Given the description of an element on the screen output the (x, y) to click on. 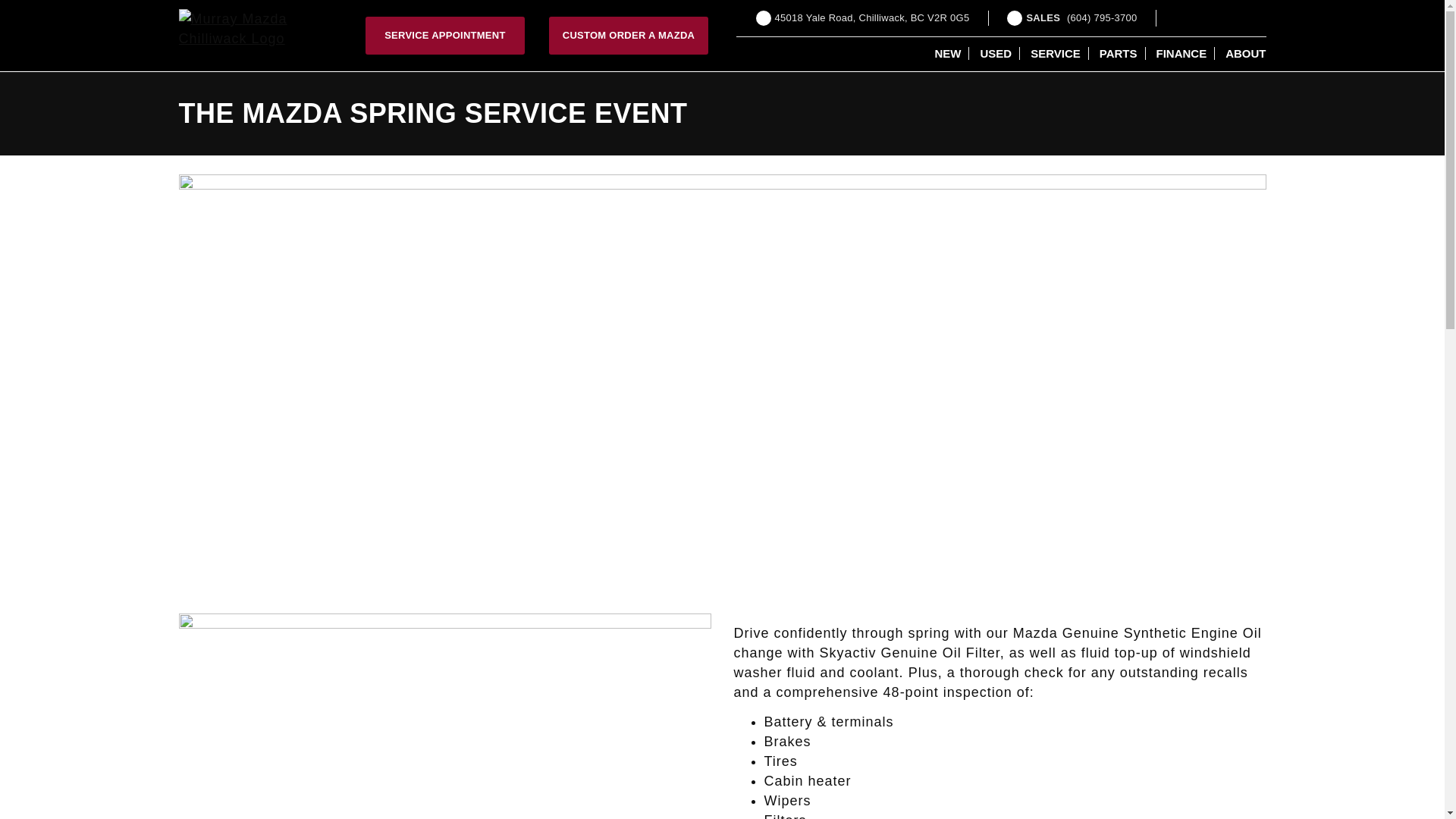
SERVICE (1055, 53)
CUSTOM ORDER A MAZDA (627, 35)
USED (862, 17)
Spring Service Genuine Service (995, 53)
SERVICE APPOINTMENT (445, 716)
PARTS (444, 35)
